Given the description of an element on the screen output the (x, y) to click on. 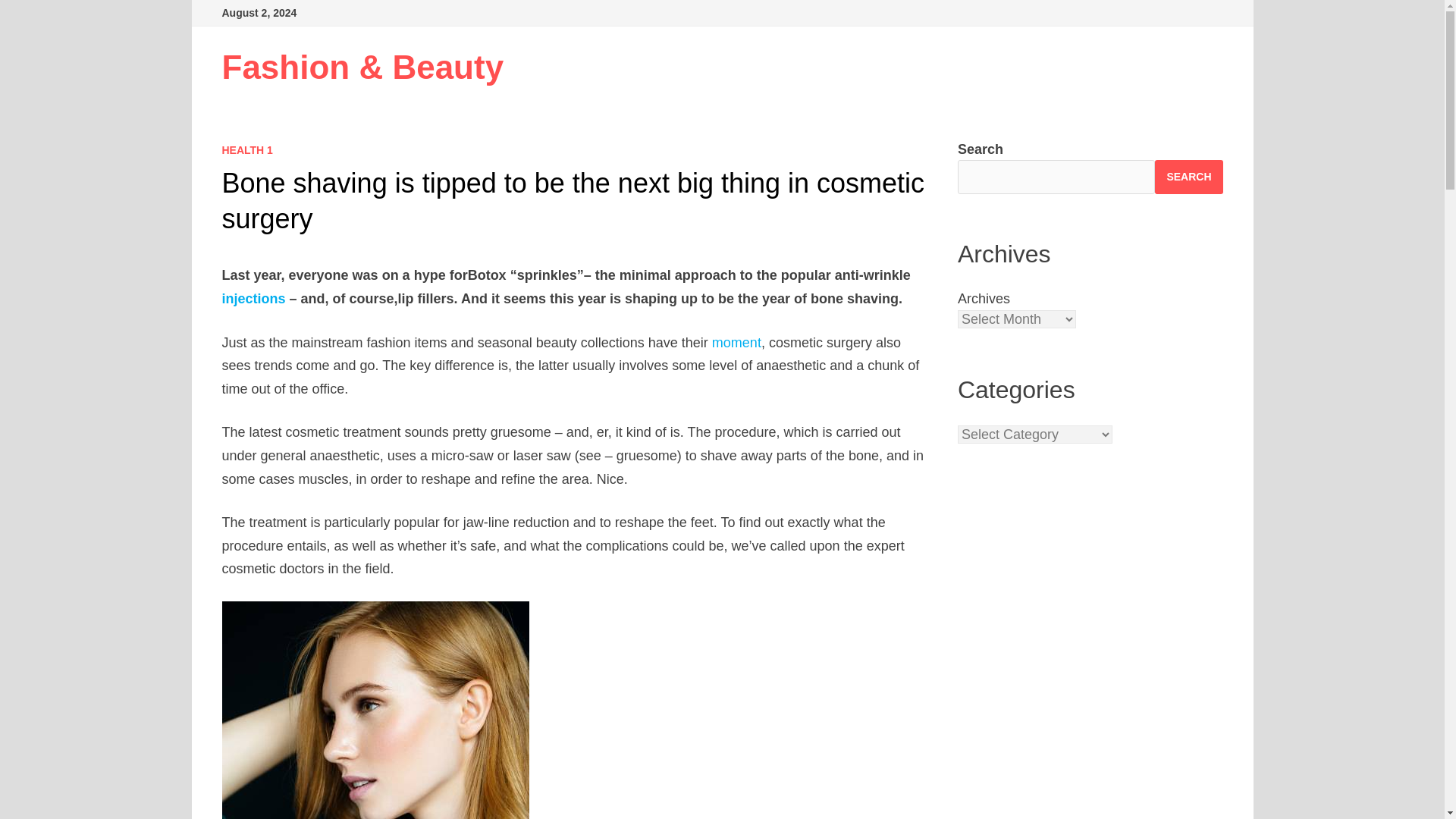
SEARCH (1188, 176)
moment (736, 342)
HEALTH 1 (246, 150)
injections (253, 298)
